Given the description of an element on the screen output the (x, y) to click on. 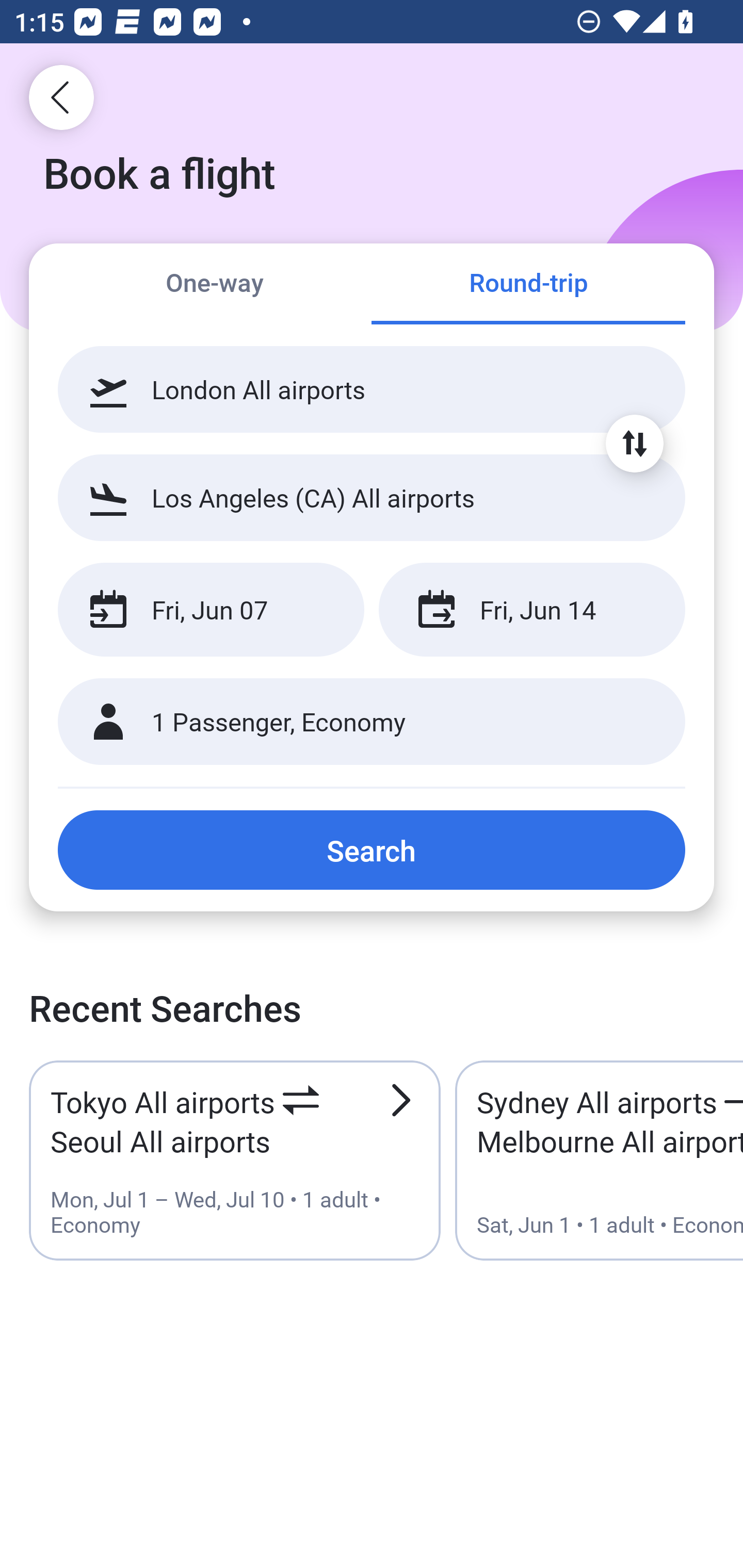
One-way (214, 284)
London All airports (371, 389)
Los Angeles (CA) All airports (371, 497)
Fri, Jun 07 (210, 609)
Fri, Jun 14 (531, 609)
1 Passenger, Economy (371, 721)
Search (371, 849)
